Given the description of an element on the screen output the (x, y) to click on. 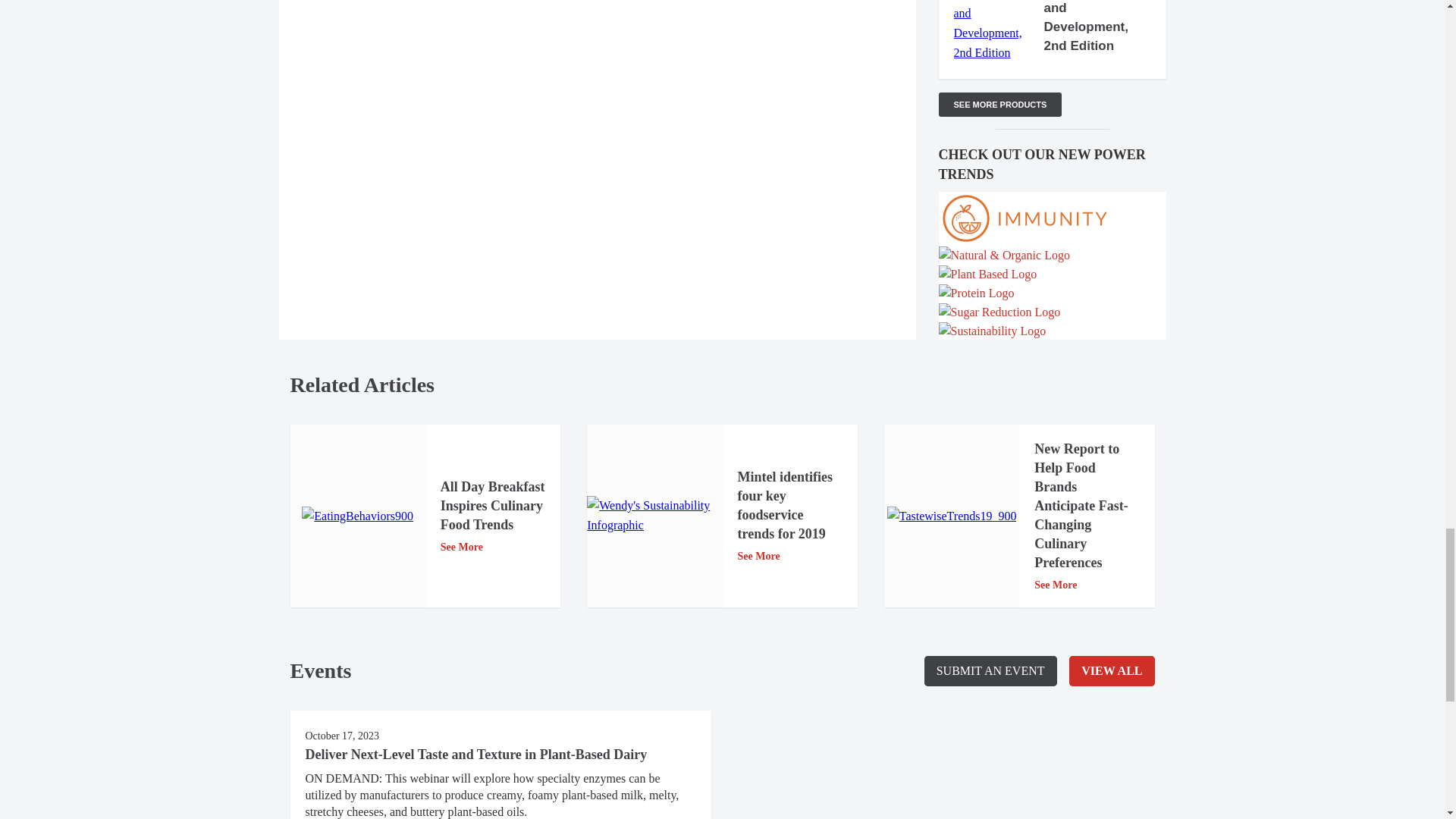
EatingBehaviors900 (357, 516)
Wendy's Sustainability Infographic (654, 516)
